Given the description of an element on the screen output the (x, y) to click on. 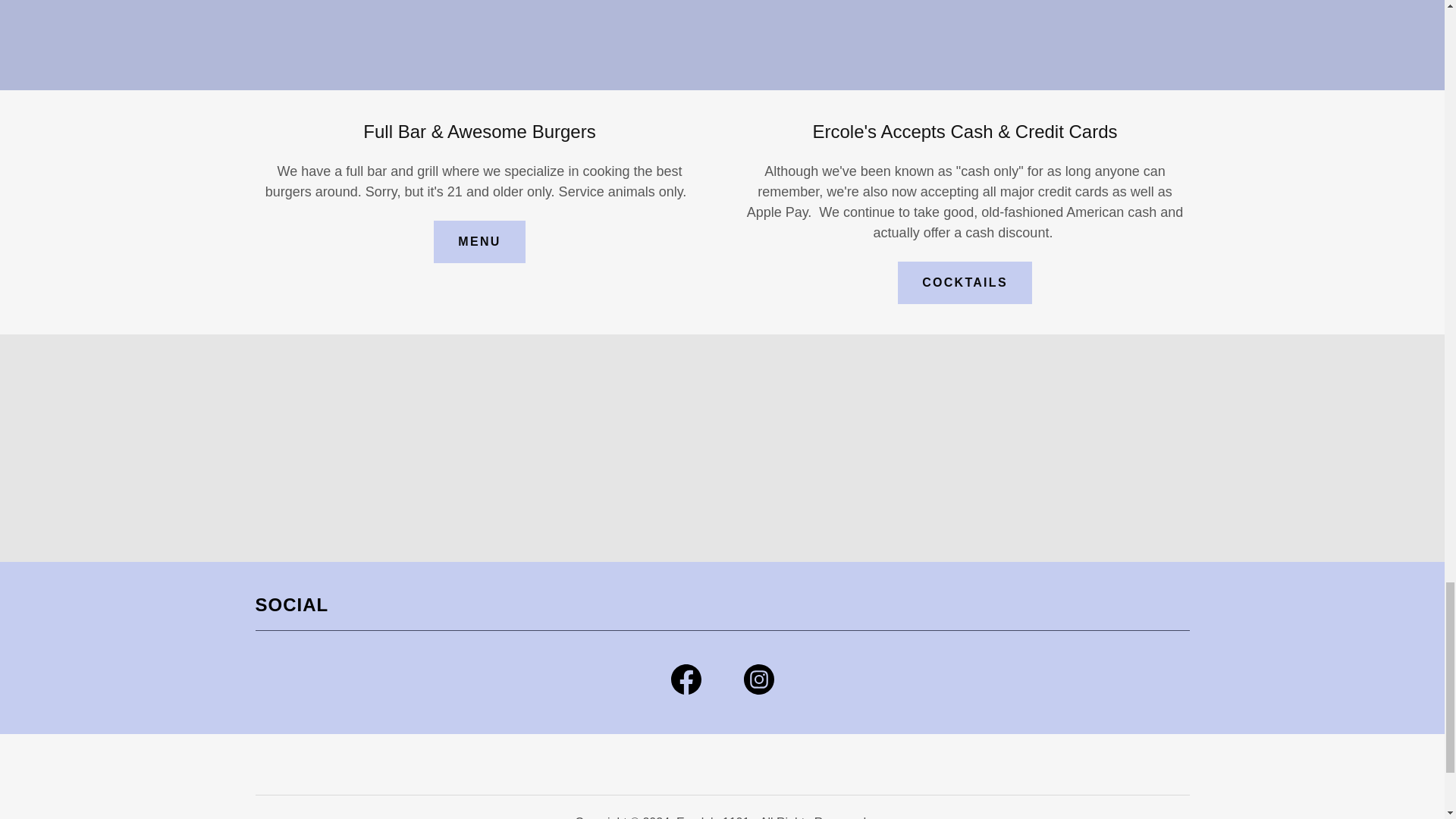
COCKTAILS (965, 282)
MENU (478, 241)
